Given the description of an element on the screen output the (x, y) to click on. 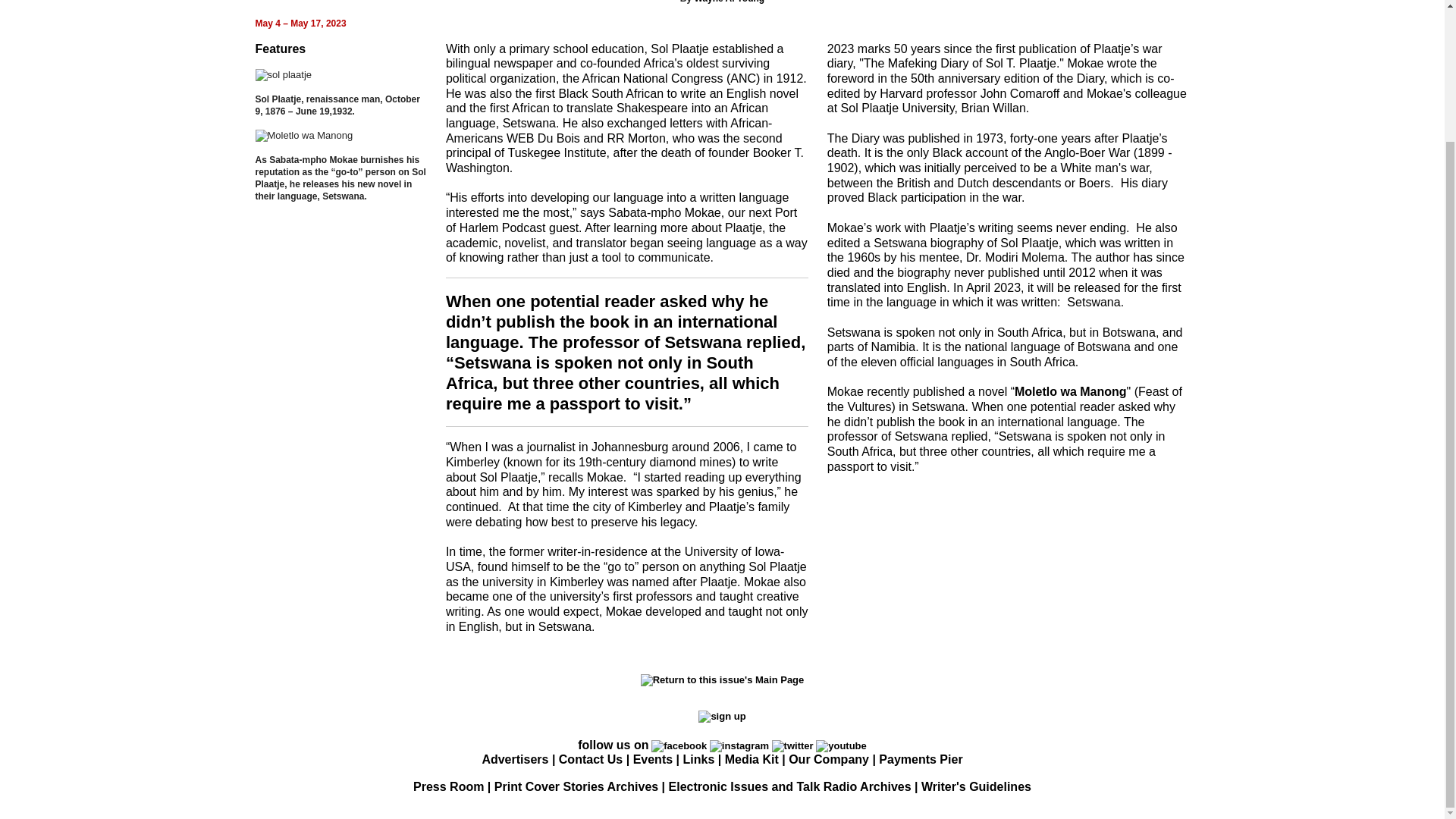
Moletlo wa Manong (1070, 391)
Contact Us (591, 758)
Media Kit (751, 758)
Events (652, 758)
Press Room (448, 786)
Electronic Issues and Talk Radio Archives (789, 786)
Payments Pier (920, 758)
Links (698, 758)
Print Cover Stories Archives (576, 786)
Writer's Guidelines (975, 786)
